Given the description of an element on the screen output the (x, y) to click on. 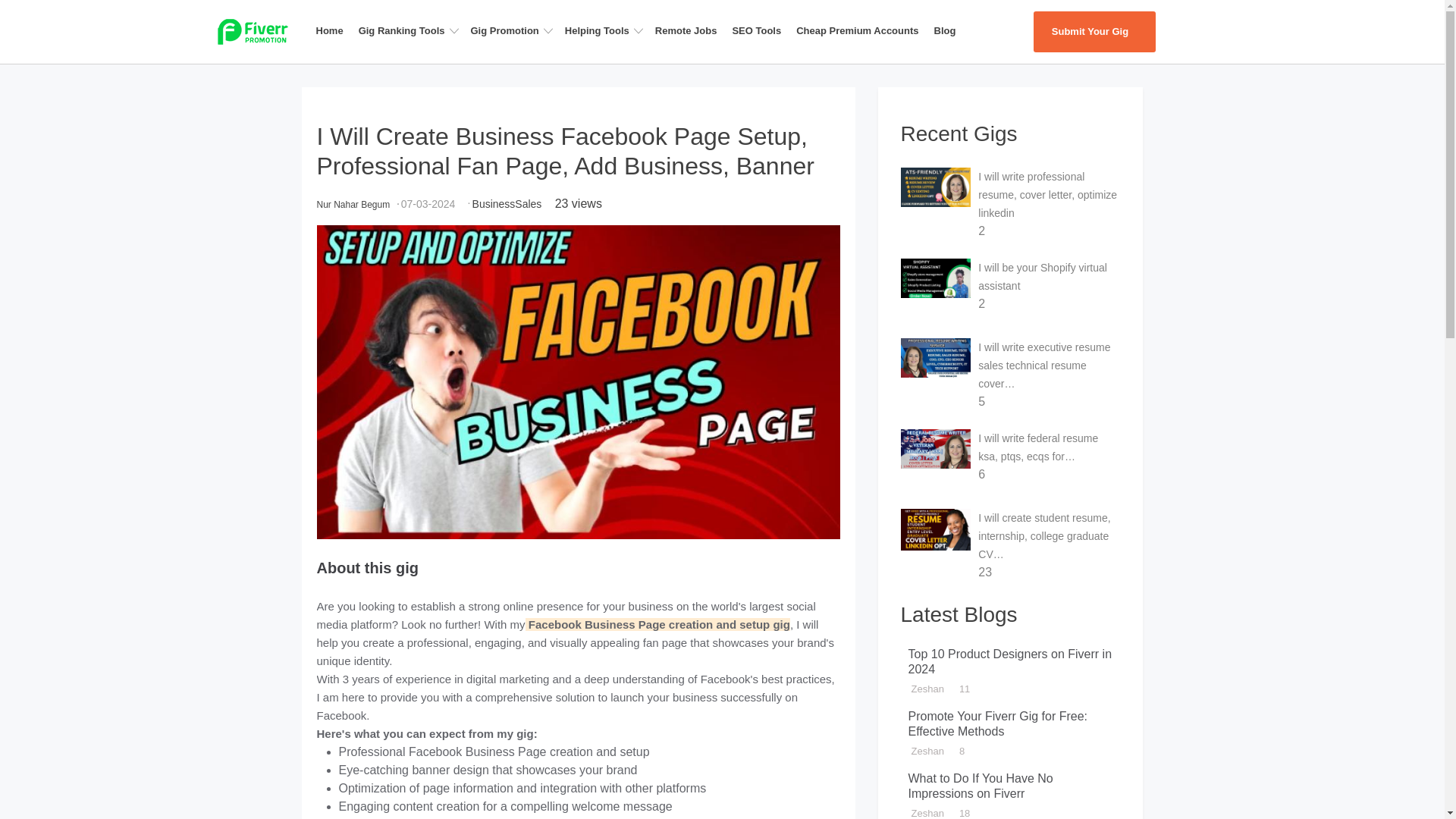
Nur Nahar Begum (353, 204)
Cheap Premium Accounts (861, 30)
Blog (949, 30)
SEO Tools (761, 30)
Submit Your Gig (1094, 31)
BusinessSales (506, 203)
Helping Tools (607, 30)
Gig Ranking Tools (411, 30)
Gig Promotion (513, 30)
07-03-2024 (428, 203)
Remote Jobs (690, 30)
Home (334, 30)
